Given the description of an element on the screen output the (x, y) to click on. 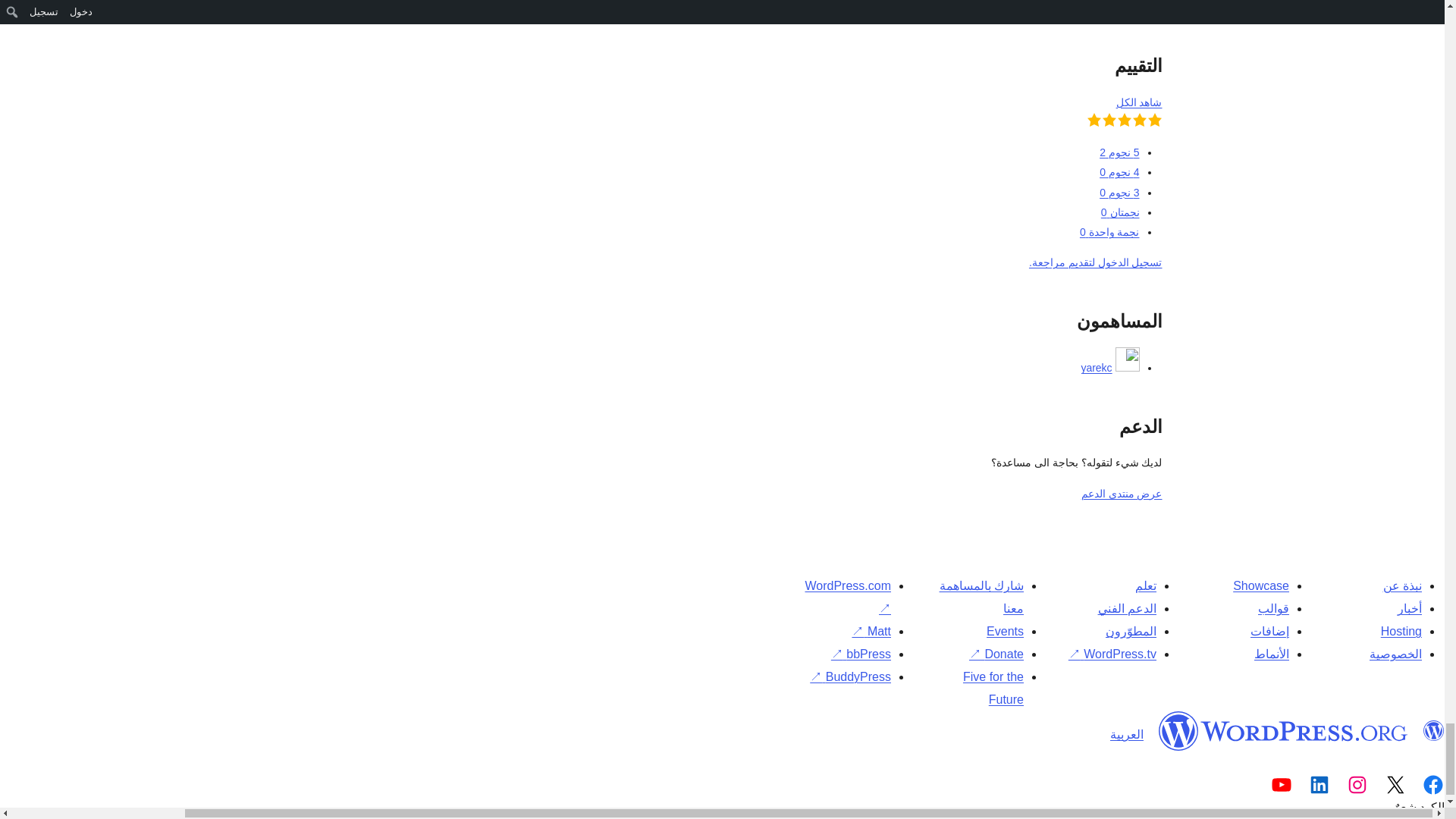
WordPress.org (1282, 731)
WordPress.org (1433, 731)
